Given the description of an element on the screen output the (x, y) to click on. 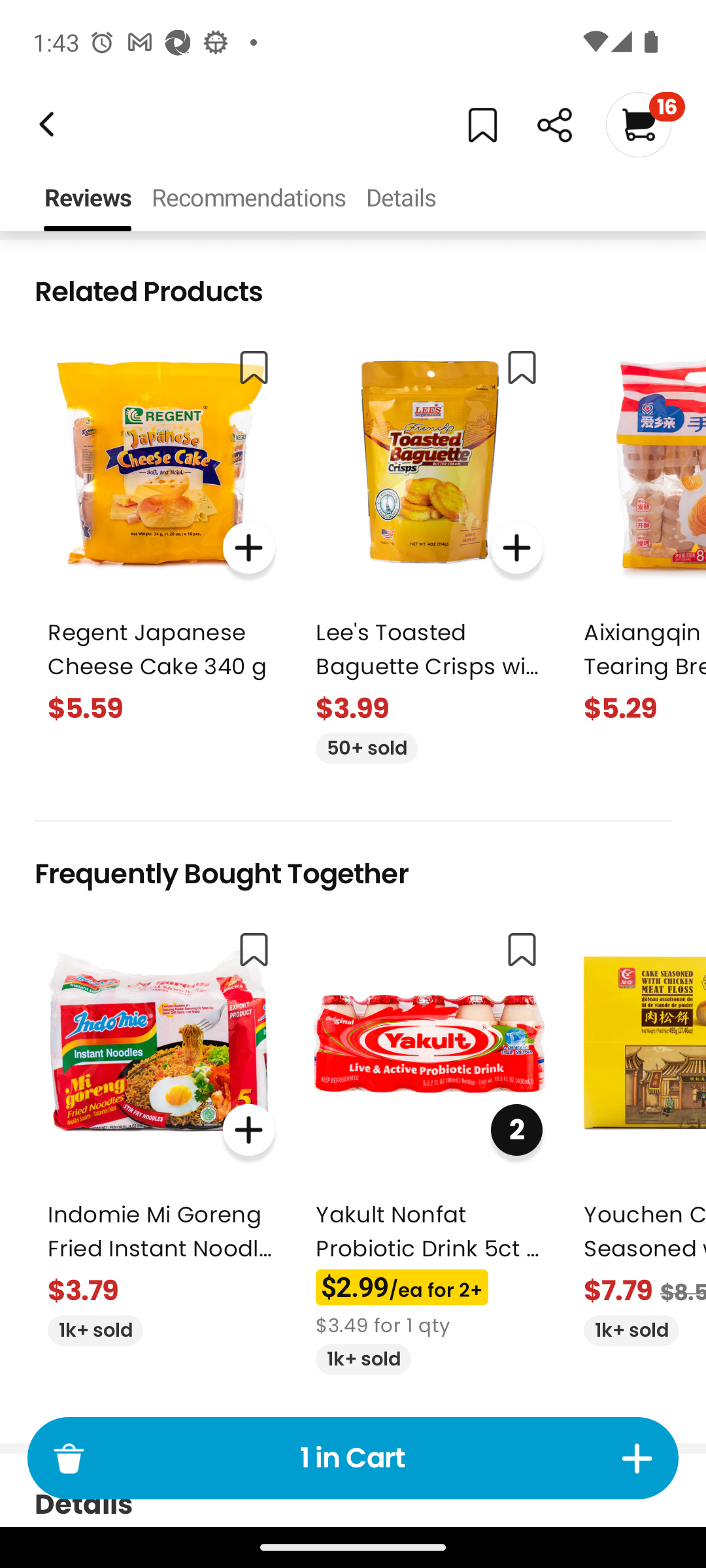
16 (644, 124)
Weee! (45, 124)
Weee! (554, 125)
Reviews (87, 199)
Recommendations (248, 199)
Details (400, 199)
Regent Japanese Cheese Cake 340 g $5.59 (160, 529)
2 (516, 1129)
1 in Cart (352, 1458)
